Given the description of an element on the screen output the (x, y) to click on. 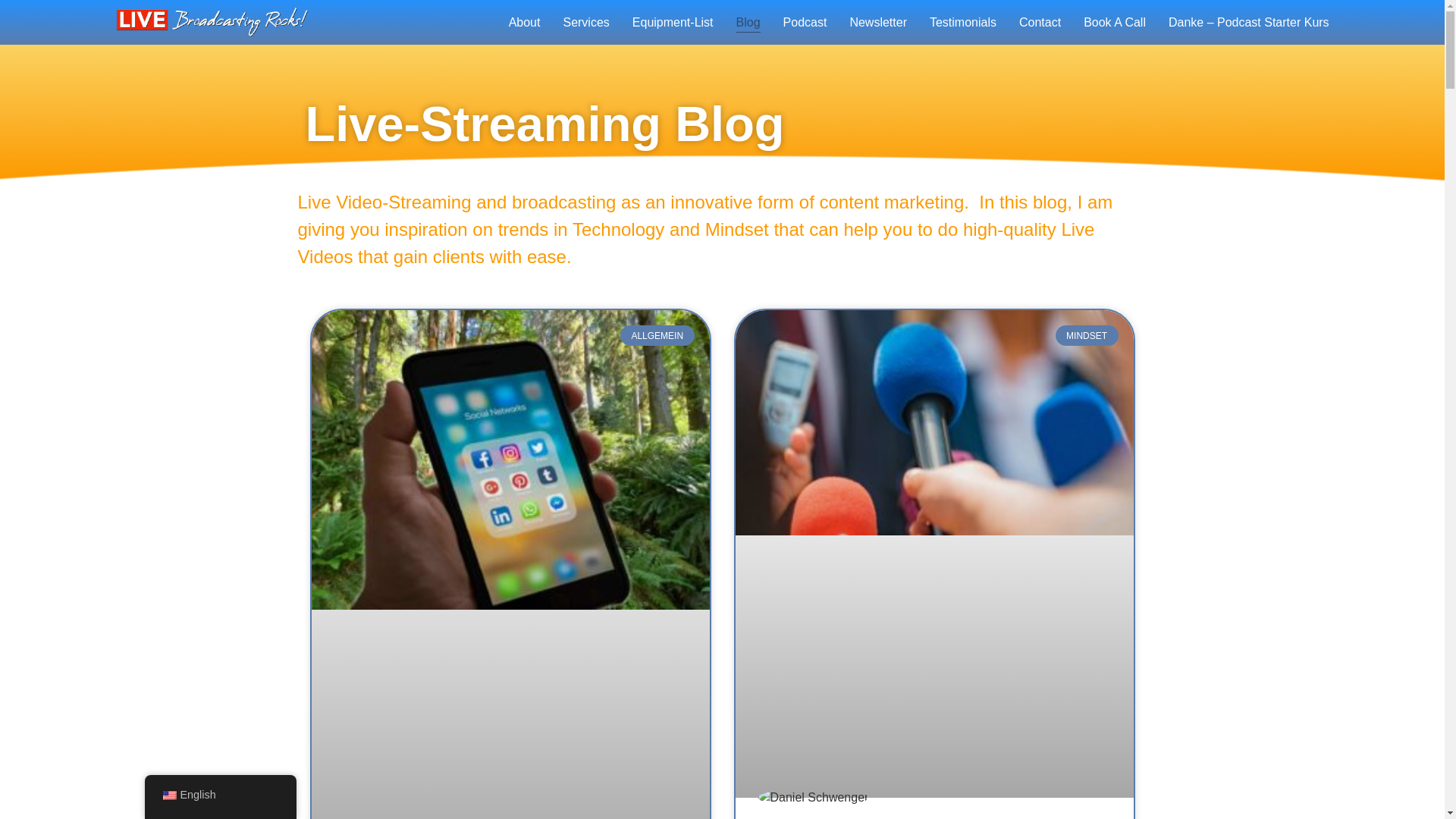
Contact (1040, 21)
Services (585, 21)
Book A Call (1114, 21)
Equipment-List (672, 21)
Newsletter (877, 21)
Testimonials (962, 21)
About (524, 21)
Podcast (805, 21)
Blog (748, 21)
English (168, 795)
